Given the description of an element on the screen output the (x, y) to click on. 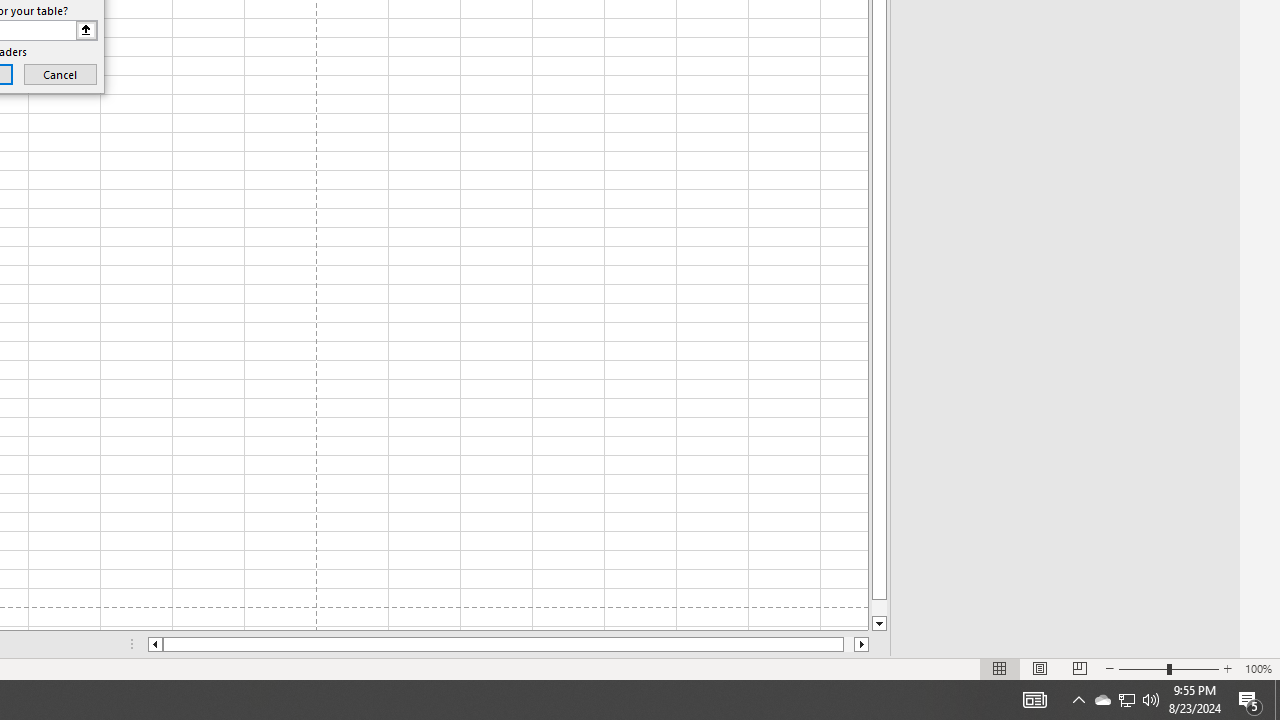
Column left (153, 644)
Page Break Preview (1079, 668)
Column right (861, 644)
Zoom In (1227, 668)
Page Layout (1039, 668)
Class: NetUIScrollBar (507, 644)
Normal (1000, 668)
Zoom Out (1142, 668)
Zoom (1168, 668)
Page right (848, 644)
Line down (879, 624)
Page down (879, 607)
